Given the description of an element on the screen output the (x, y) to click on. 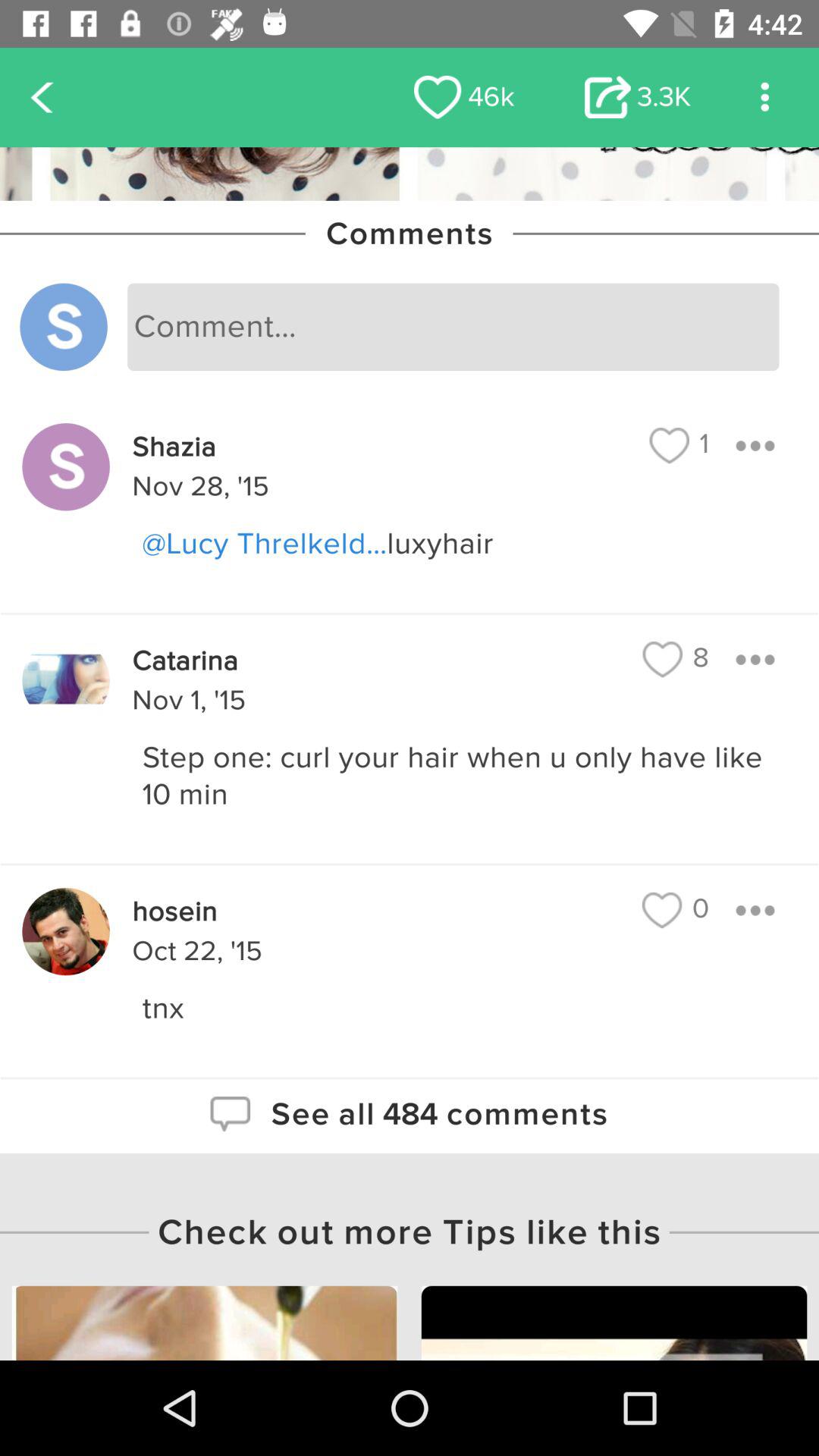
type comment (453, 326)
